Given the description of an element on the screen output the (x, y) to click on. 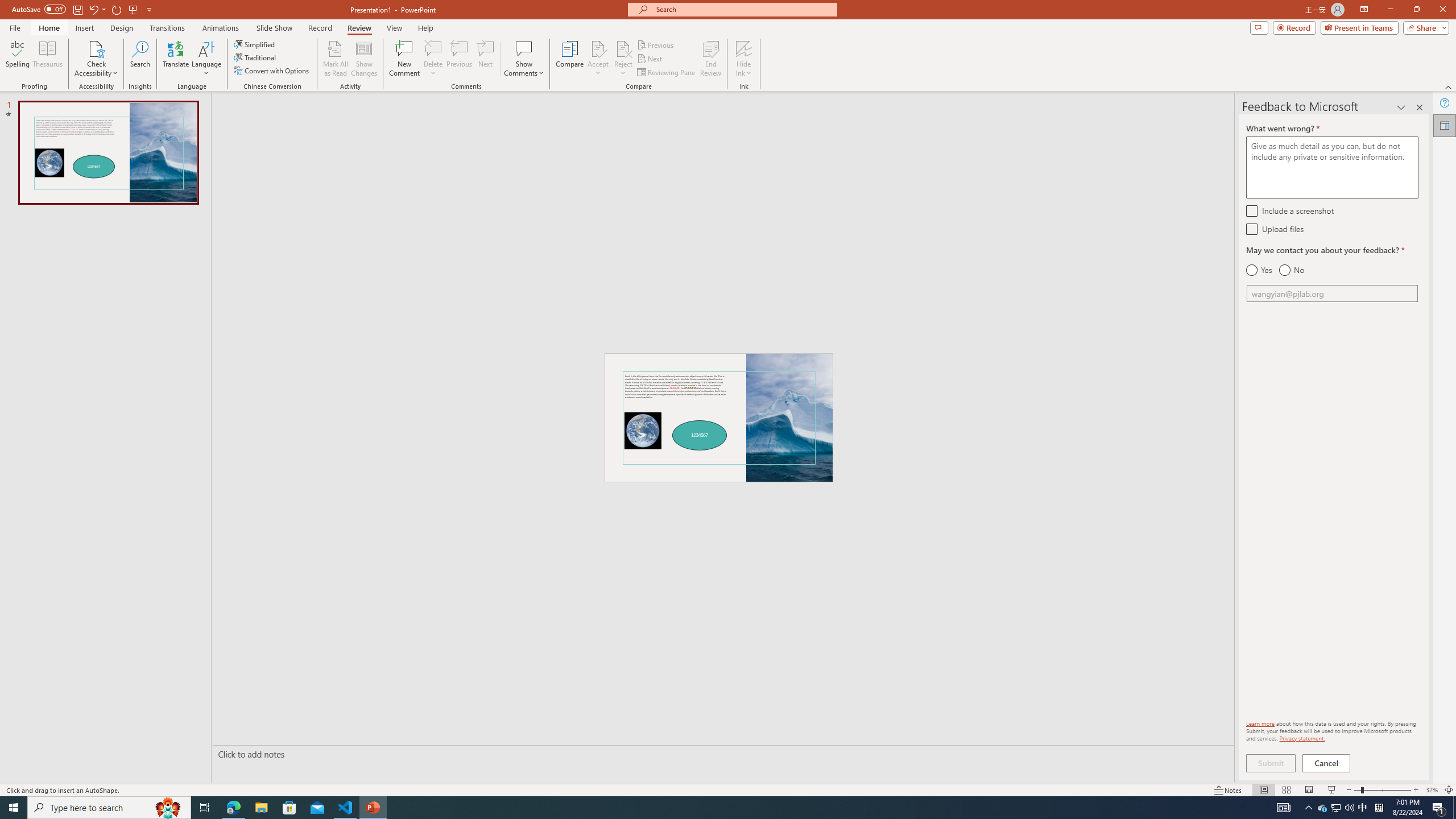
Thesaurus... (47, 58)
End Review (710, 58)
Privacy statement. (1301, 738)
Delete (432, 48)
Upload files (1251, 228)
Check Accessibility (95, 58)
